Given the description of an element on the screen output the (x, y) to click on. 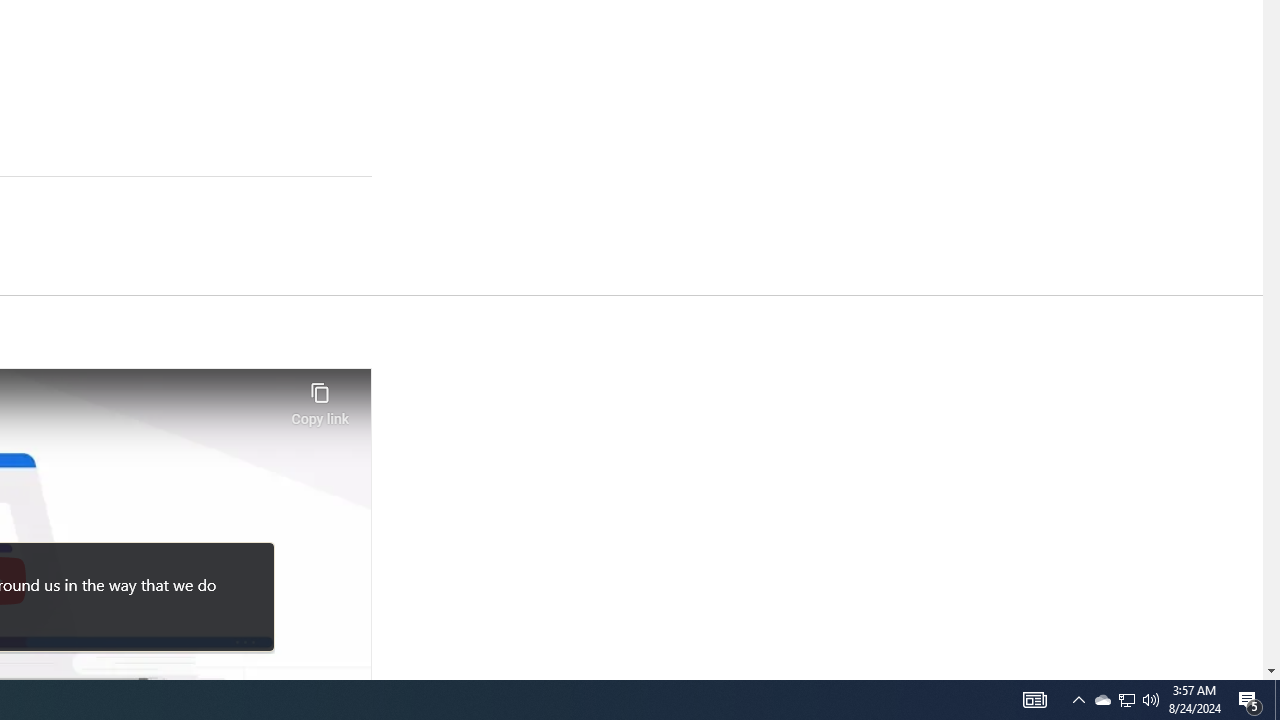
Copy link (319, 398)
